Given the description of an element on the screen output the (x, y) to click on. 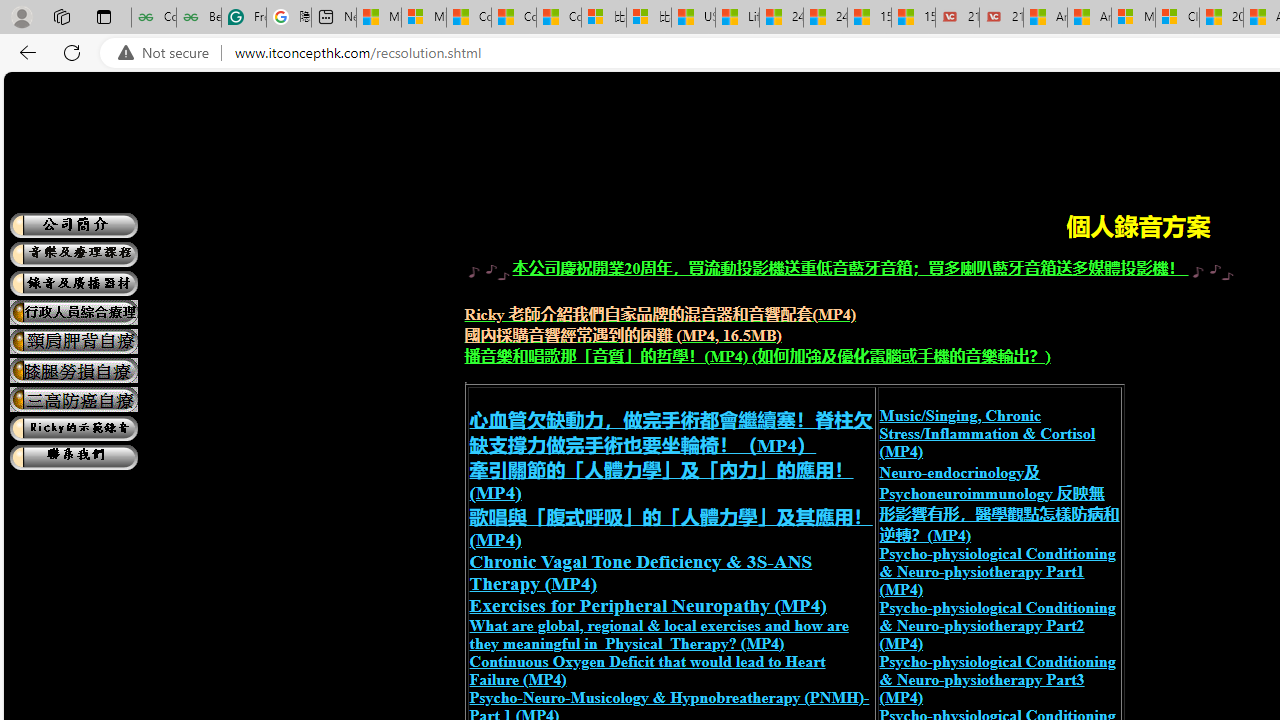
USA TODAY - MSN (693, 17)
Complete Guide to Arrays Data Structure - GeeksforGeeks (153, 17)
Cloud Computing Services | Microsoft Azure (1177, 17)
Music/Singing, Chronic Stress/Inflammation & Cortisol (MP4) (987, 433)
Lifestyle - MSN (737, 17)
Free AI Writing Assistance for Students | Grammarly (243, 17)
